Given the description of an element on the screen output the (x, y) to click on. 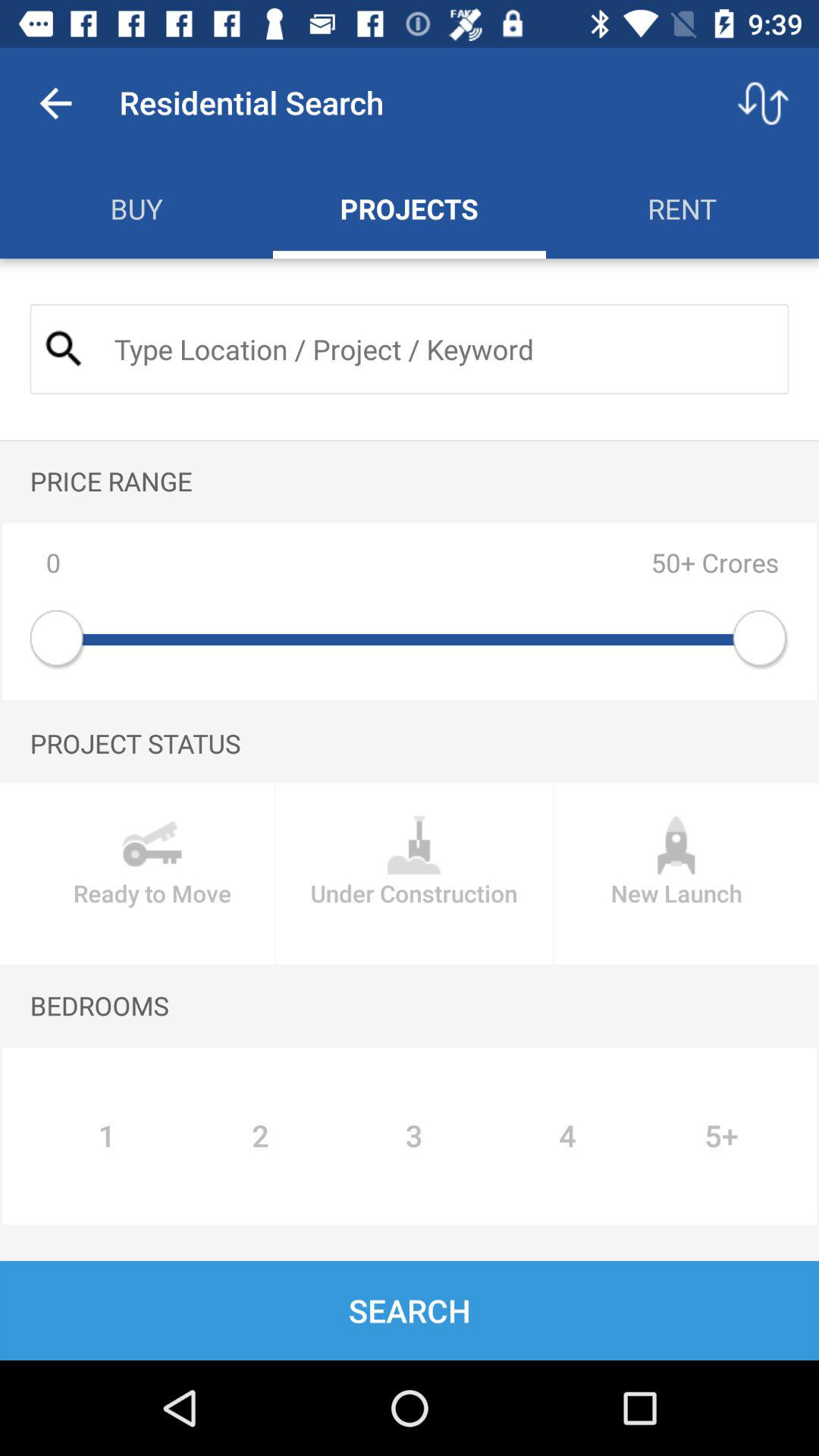
launch the ready to move (152, 873)
